Given the description of an element on the screen output the (x, y) to click on. 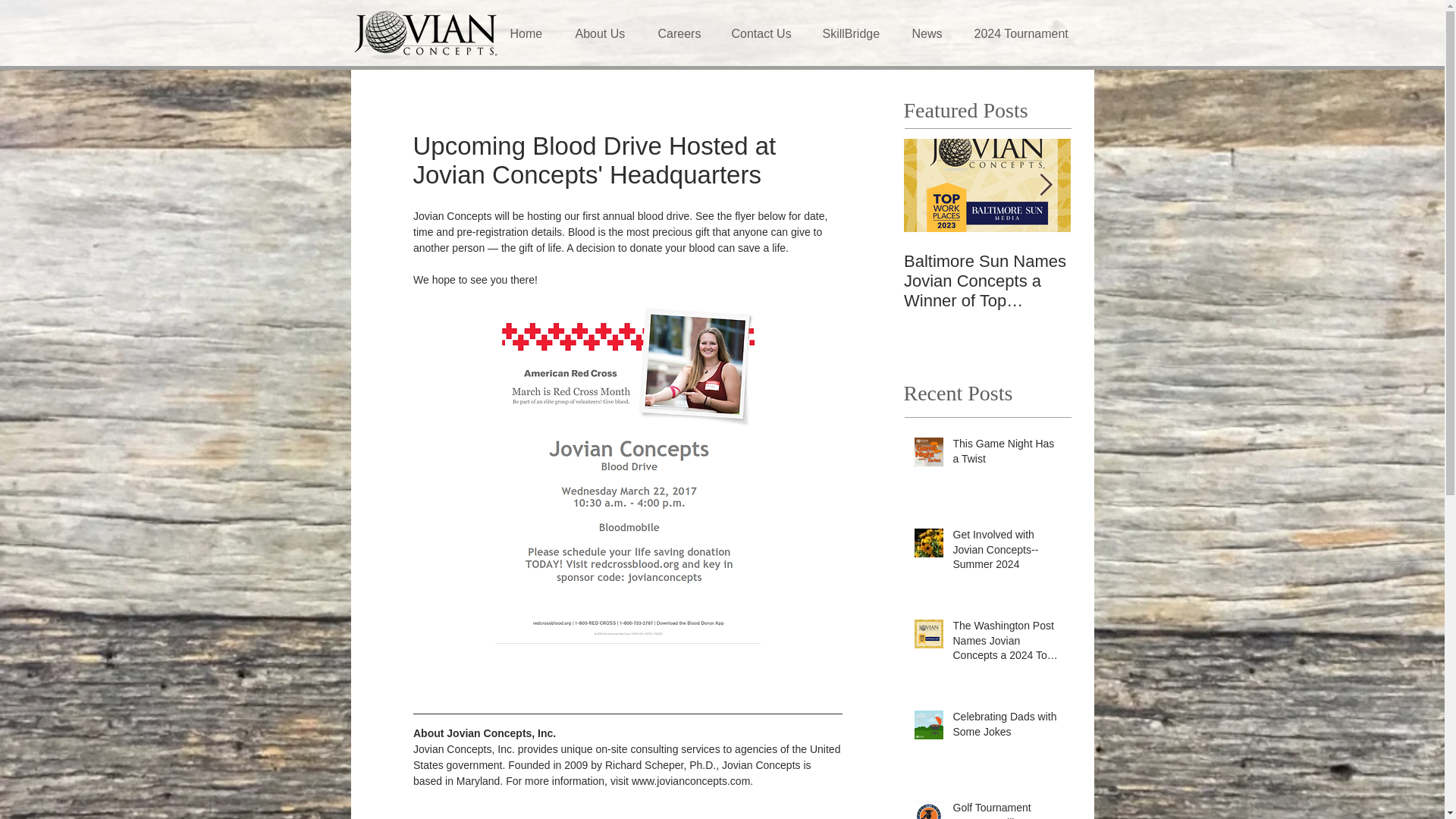
Home (531, 33)
News (931, 33)
This Game Night Has a Twist (1006, 454)
Careers (682, 33)
2024 Tournament (1026, 33)
Celebrating Dads with Some Jokes (1006, 727)
JovianConceptsInc (426, 33)
